Given the description of an element on the screen output the (x, y) to click on. 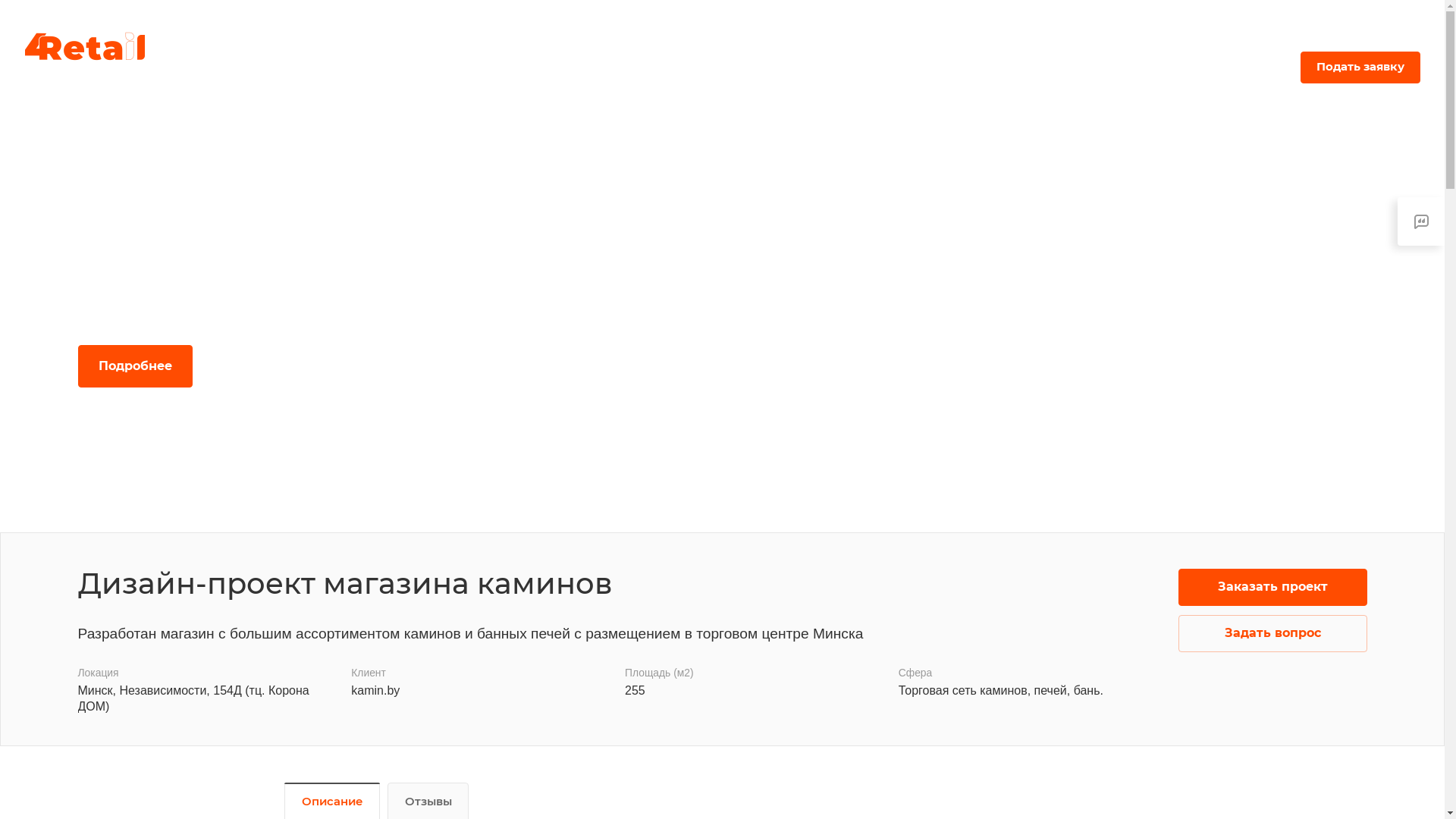
kamin.by Element type: text (375, 690)
